Given the description of an element on the screen output the (x, y) to click on. 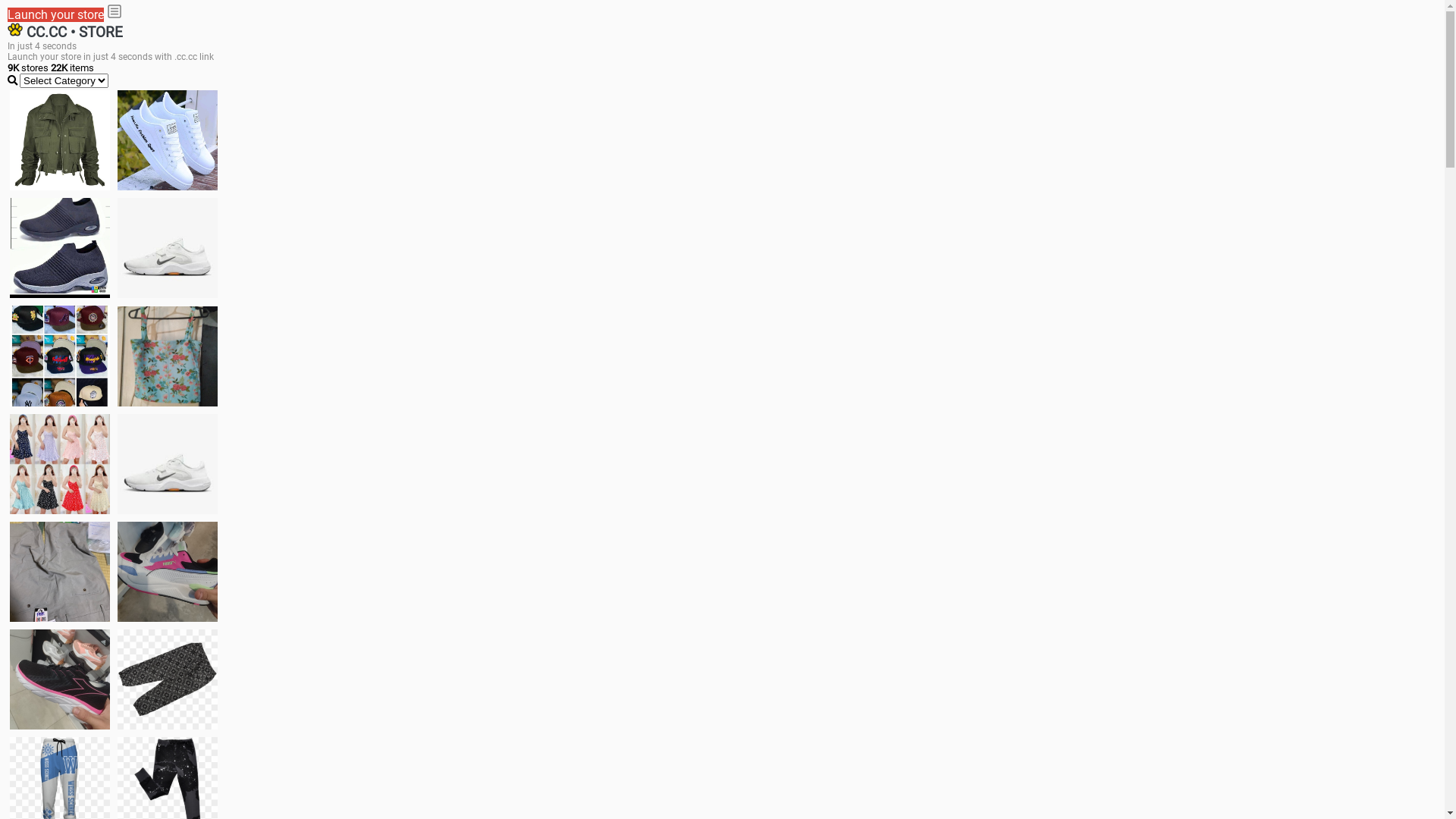
Zapatillas pumas Element type: hover (167, 571)
Short pant Element type: hover (167, 679)
white shoes Element type: hover (167, 140)
Ukay cloth Element type: hover (167, 356)
Zapatillas Element type: hover (59, 679)
Things we need Element type: hover (59, 355)
Shoes for boys Element type: hover (167, 247)
Launch your store Element type: text (55, 14)
Dress/square nect top Element type: hover (59, 464)
shoes for boys Element type: hover (59, 247)
Shoes Element type: hover (167, 464)
jacket Element type: hover (59, 140)
